Given the description of an element on the screen output the (x, y) to click on. 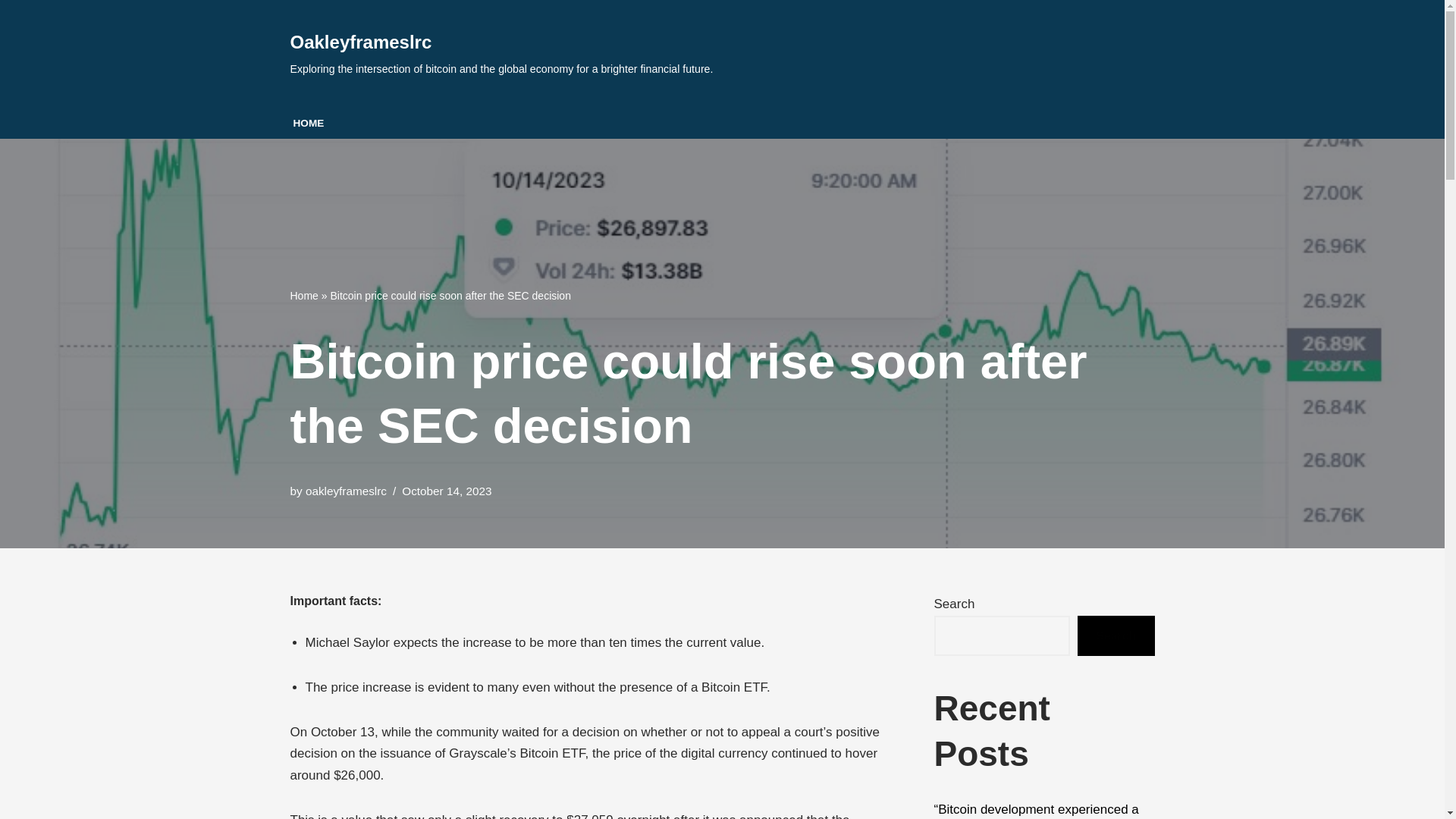
Skip to content (11, 31)
Posts by oakleyframeslrc (346, 490)
HOME (307, 122)
oakleyframeslrc (346, 490)
Home (303, 295)
Search (1115, 635)
